Given the description of an element on the screen output the (x, y) to click on. 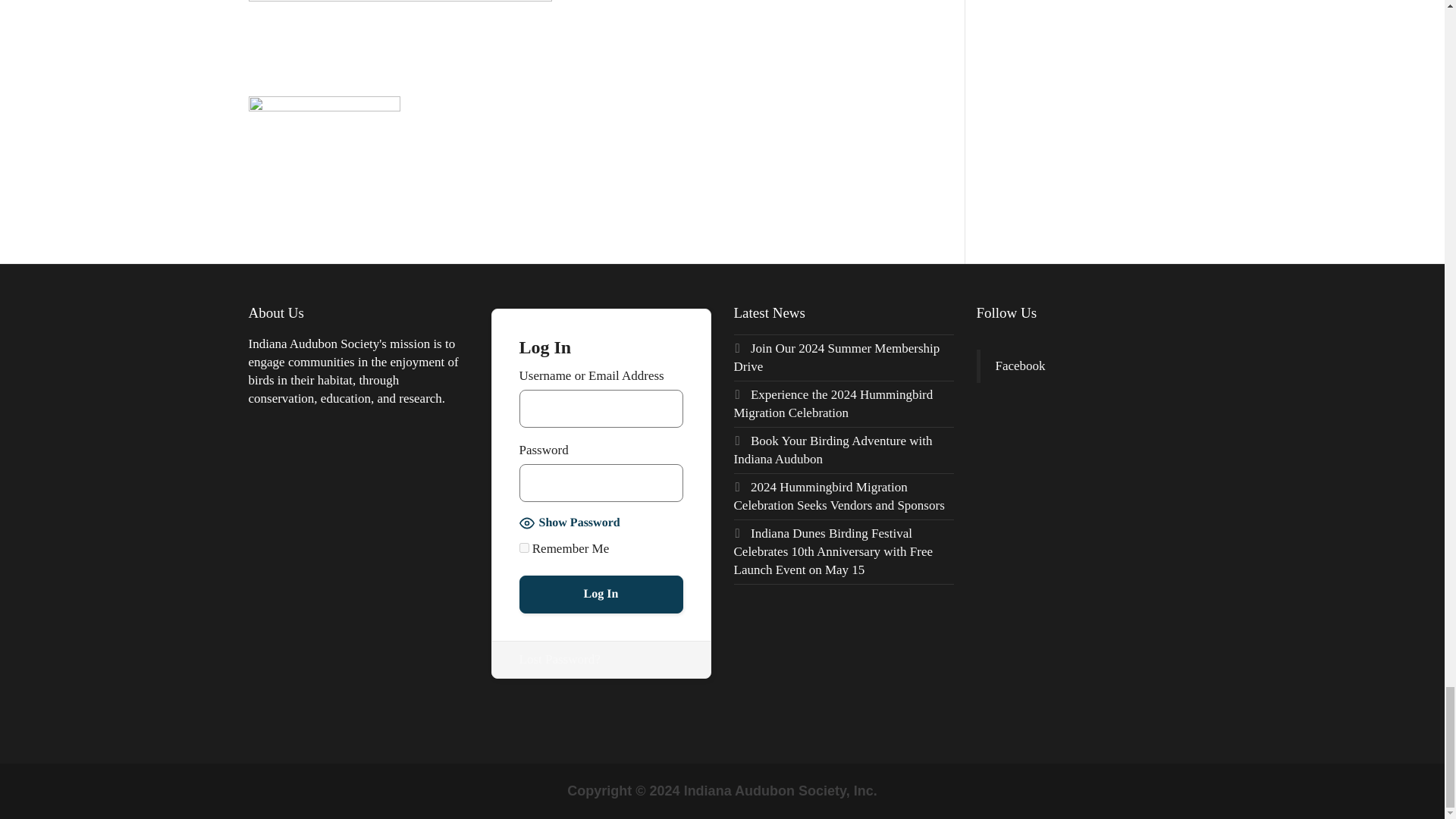
forever (523, 547)
Log In (600, 594)
